Given the description of an element on the screen output the (x, y) to click on. 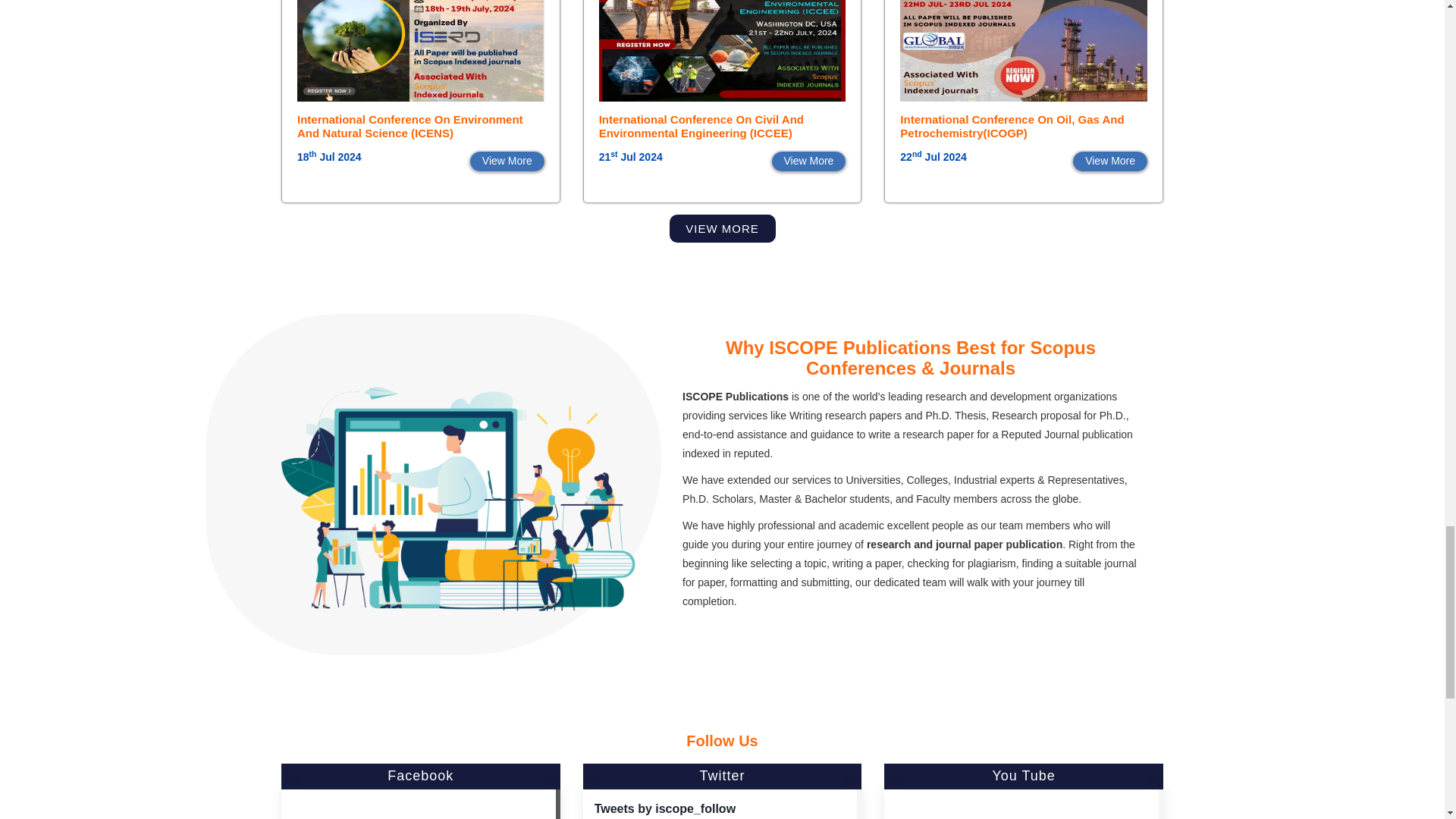
YouTube video player (1021, 809)
